Given the description of an element on the screen output the (x, y) to click on. 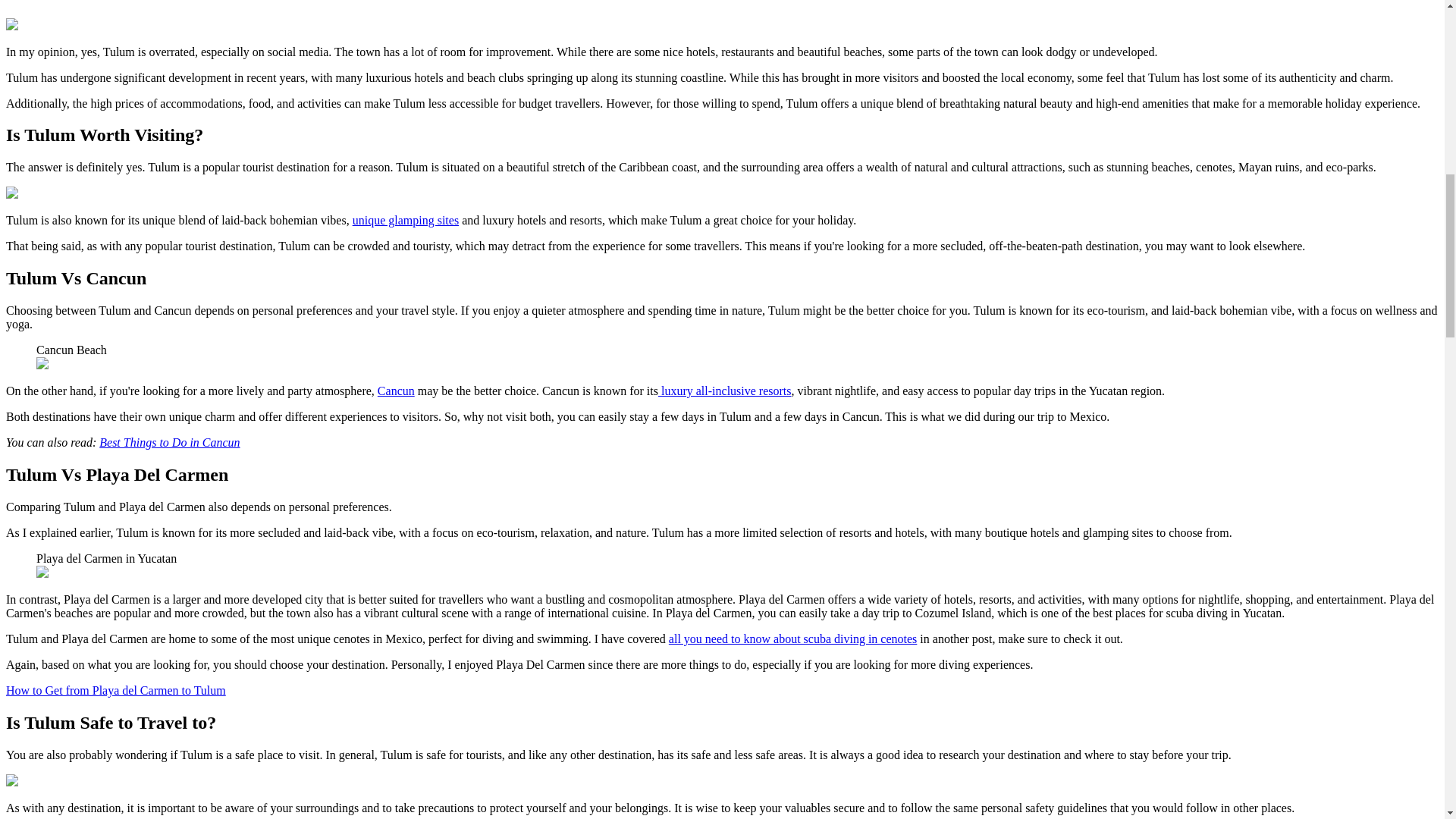
unique glamping sites (405, 219)
How to Get from Playa del Carmen to Tulum (115, 689)
Cancun (395, 390)
luxury all-inclusive resorts (725, 390)
Best Things to Do in Cancun (169, 441)
all you need to know about scuba diving in cenotes (792, 638)
